Given the description of an element on the screen output the (x, y) to click on. 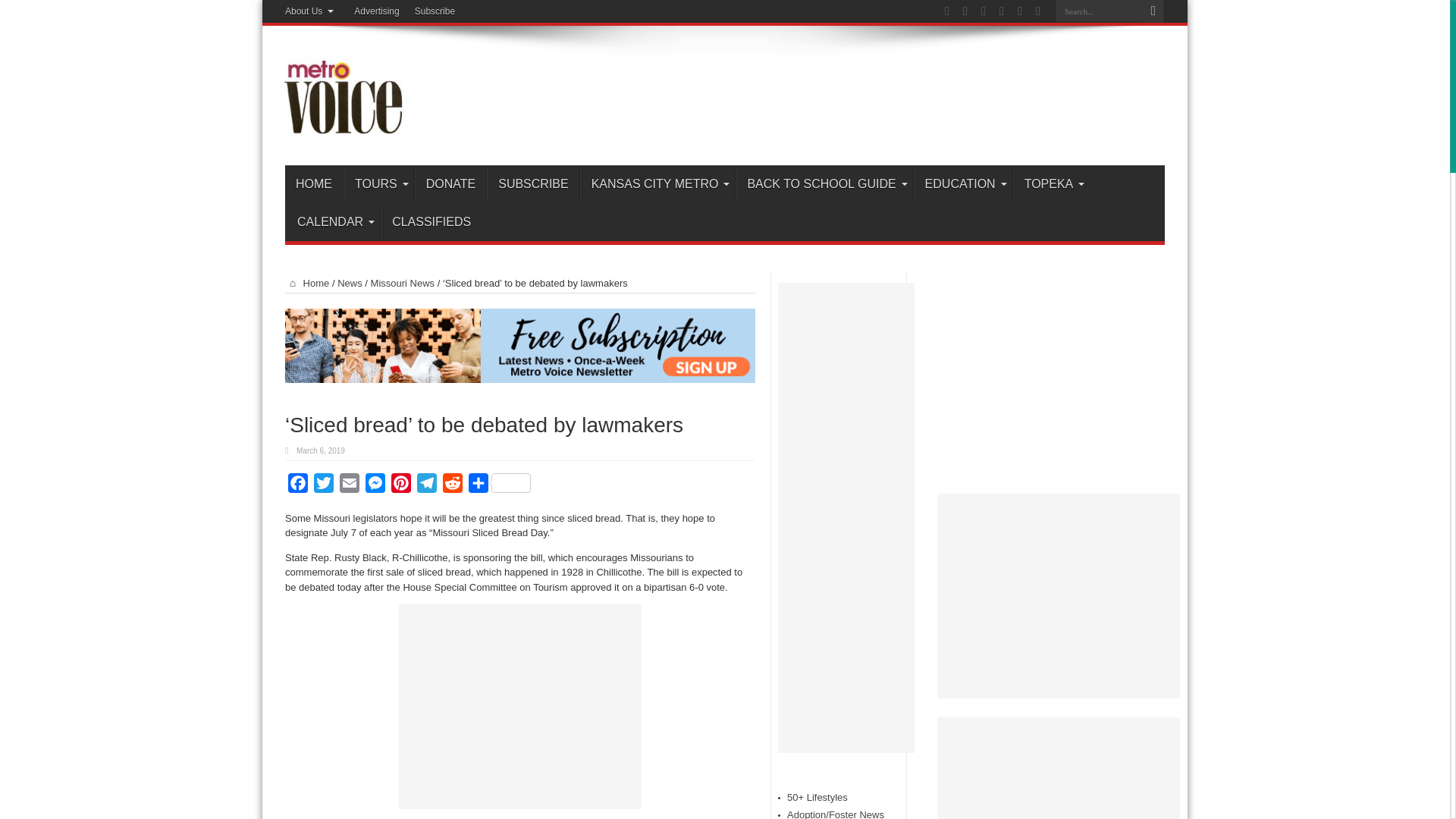
TOURS (378, 184)
About Us (312, 11)
BACK TO SCHOOL GUIDE (823, 184)
TOPEKA (1051, 184)
Reddit (452, 485)
3rd party ad content (520, 706)
Subscribe (434, 11)
Search (1152, 11)
HOME (313, 184)
Metro Voice News (342, 126)
Telegram (426, 485)
Pinterest (400, 485)
DONATE (450, 184)
SUBSCRIBE (532, 184)
EDUCATION (962, 184)
